Given the description of an element on the screen output the (x, y) to click on. 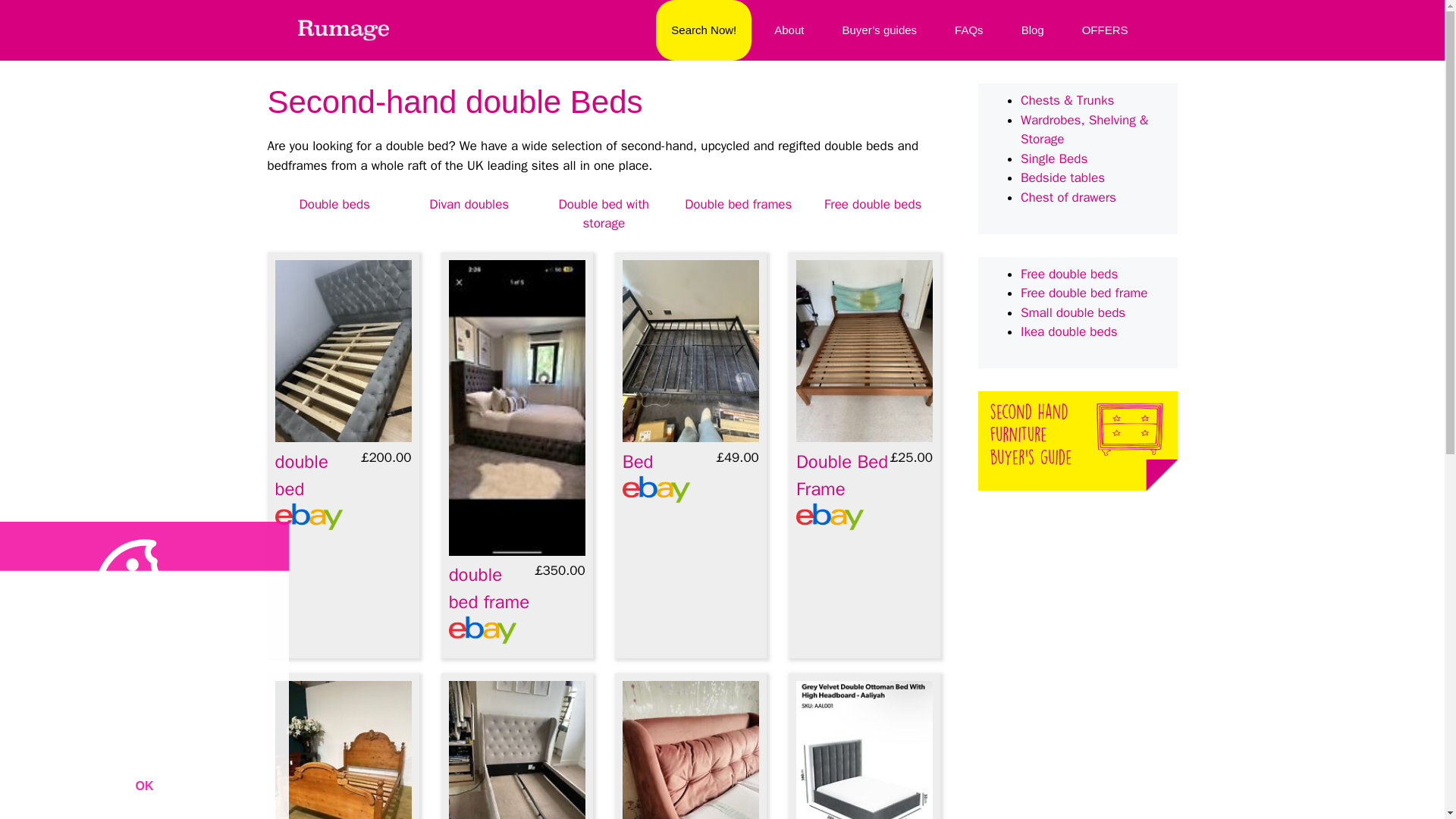
Double Bed Frame (842, 475)
FAQs (968, 30)
About (788, 30)
Double bed with storage (602, 213)
OFFERS (1104, 30)
double bed frame (488, 588)
OK (143, 786)
Double beds (334, 204)
Free double beds (872, 204)
Rumage (342, 30)
Search Now! (703, 30)
double bed (301, 475)
Double bed frames (738, 204)
Divan doubles (468, 204)
Bed (638, 461)
